Given the description of an element on the screen output the (x, y) to click on. 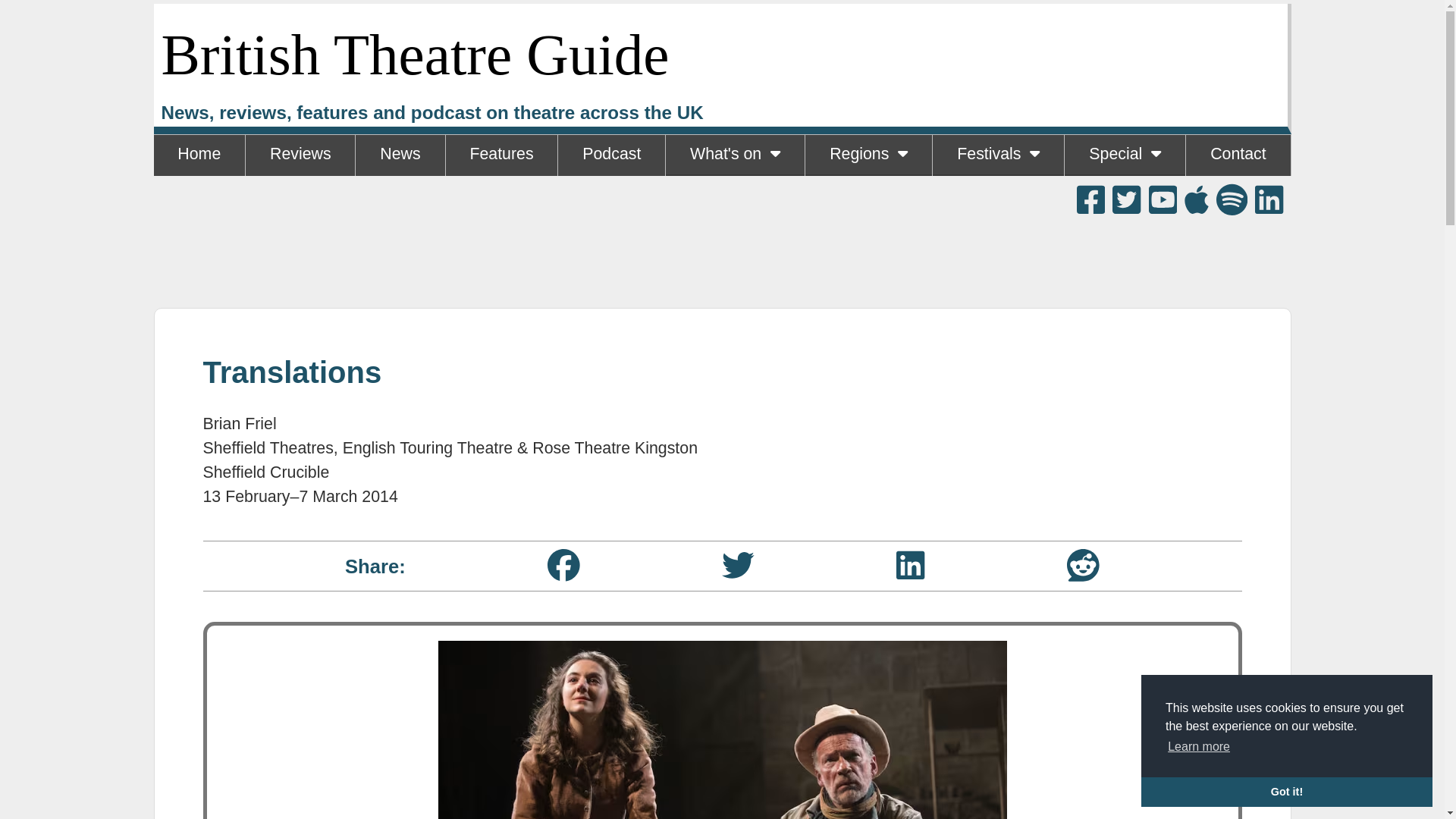
Edinburgh (997, 196)
North West (868, 196)
Reviews (300, 154)
LinkedIn (910, 564)
Listings (734, 196)
Twitter (738, 564)
Regions   (868, 155)
British Theatre Guide (414, 54)
Festivals   (998, 155)
Facebook (563, 564)
What's on   (735, 155)
Home (198, 154)
Reddit (1083, 564)
Features (501, 154)
News (399, 154)
